Given the description of an element on the screen output the (x, y) to click on. 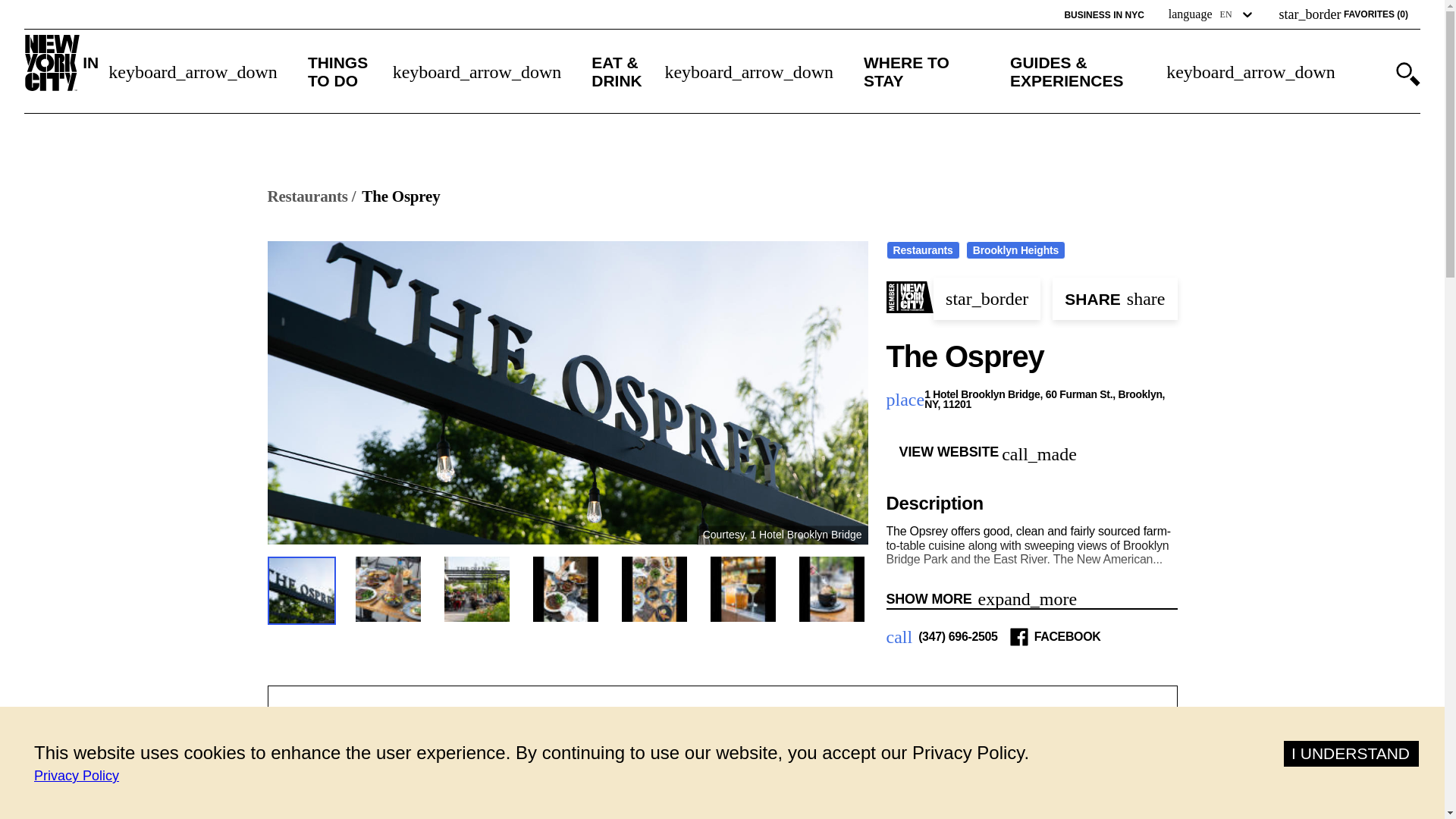
FACEBOOK (1066, 636)
The Osprey (400, 196)
VISIT WEBSITE (793, 798)
BUSINESS IN NYC (1103, 14)
1 Hotel Brooklyn Bridge, 60 Furman St., Brooklyn, NY, 11201 (1050, 399)
Skip to main content (78, 11)
